Given the description of an element on the screen output the (x, y) to click on. 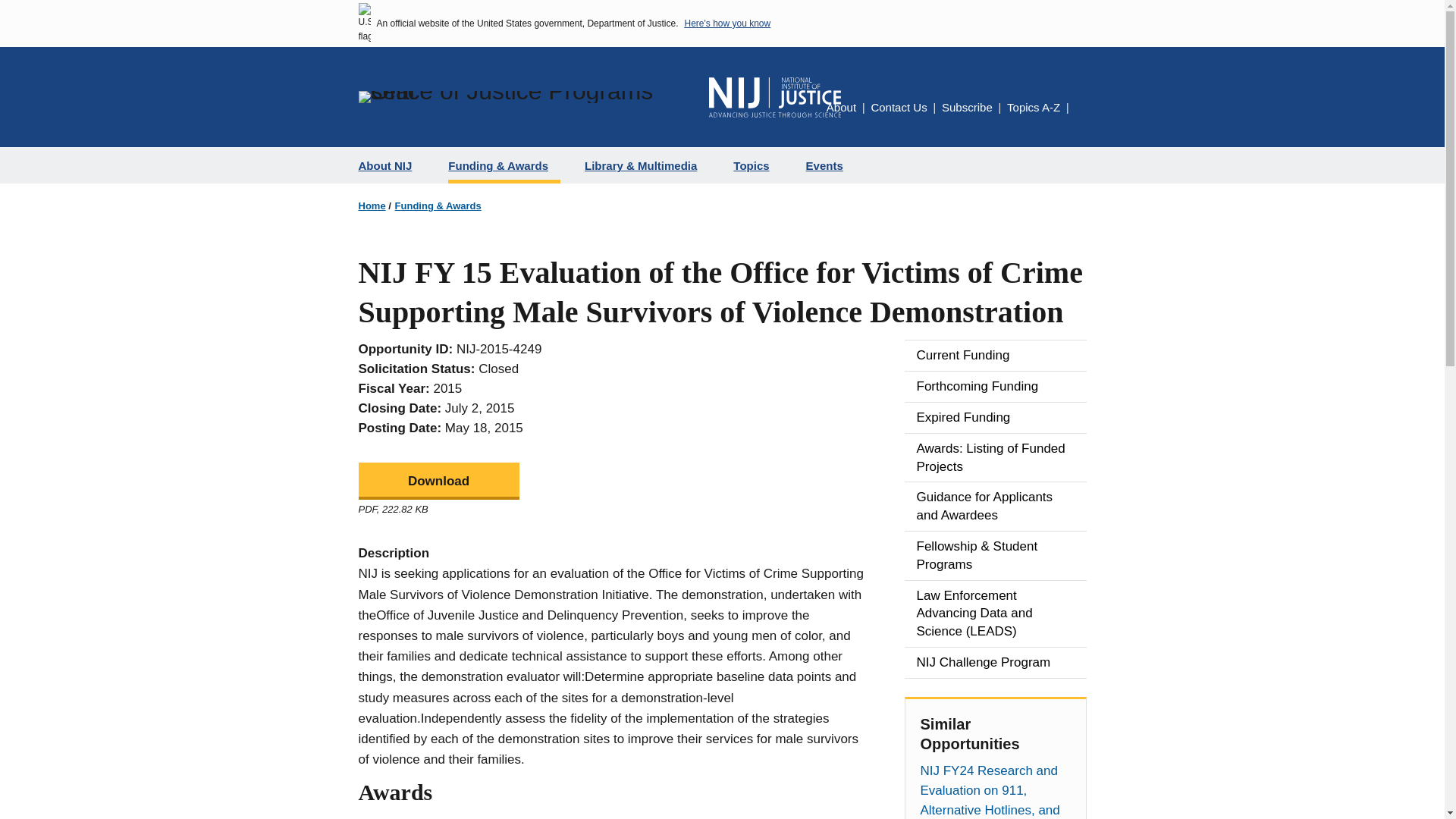
Awards: Listing of Funded Projects (995, 458)
Events (830, 165)
About NIJ (390, 165)
Topics (756, 165)
Choose a social sharing platform (1080, 108)
Here's how you know (727, 23)
Expired Funding (995, 417)
Current Funding (995, 355)
Contact Us (898, 107)
Office of Justice Programs (526, 96)
Download (438, 480)
NIJ Challenge Program (995, 662)
